Given the description of an element on the screen output the (x, y) to click on. 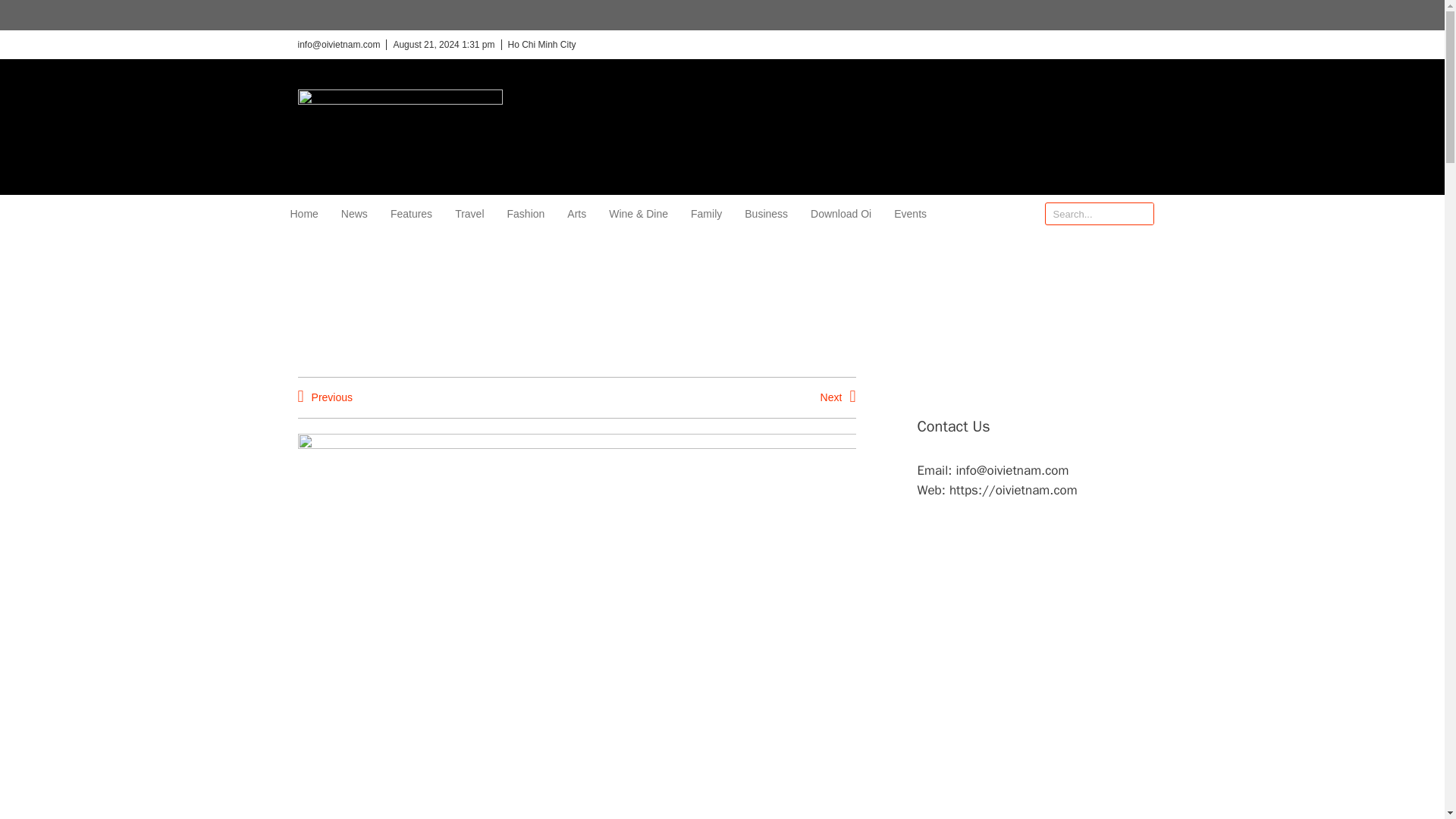
Fashion (525, 213)
Features (411, 213)
Family (706, 213)
Business (765, 213)
